Given the description of an element on the screen output the (x, y) to click on. 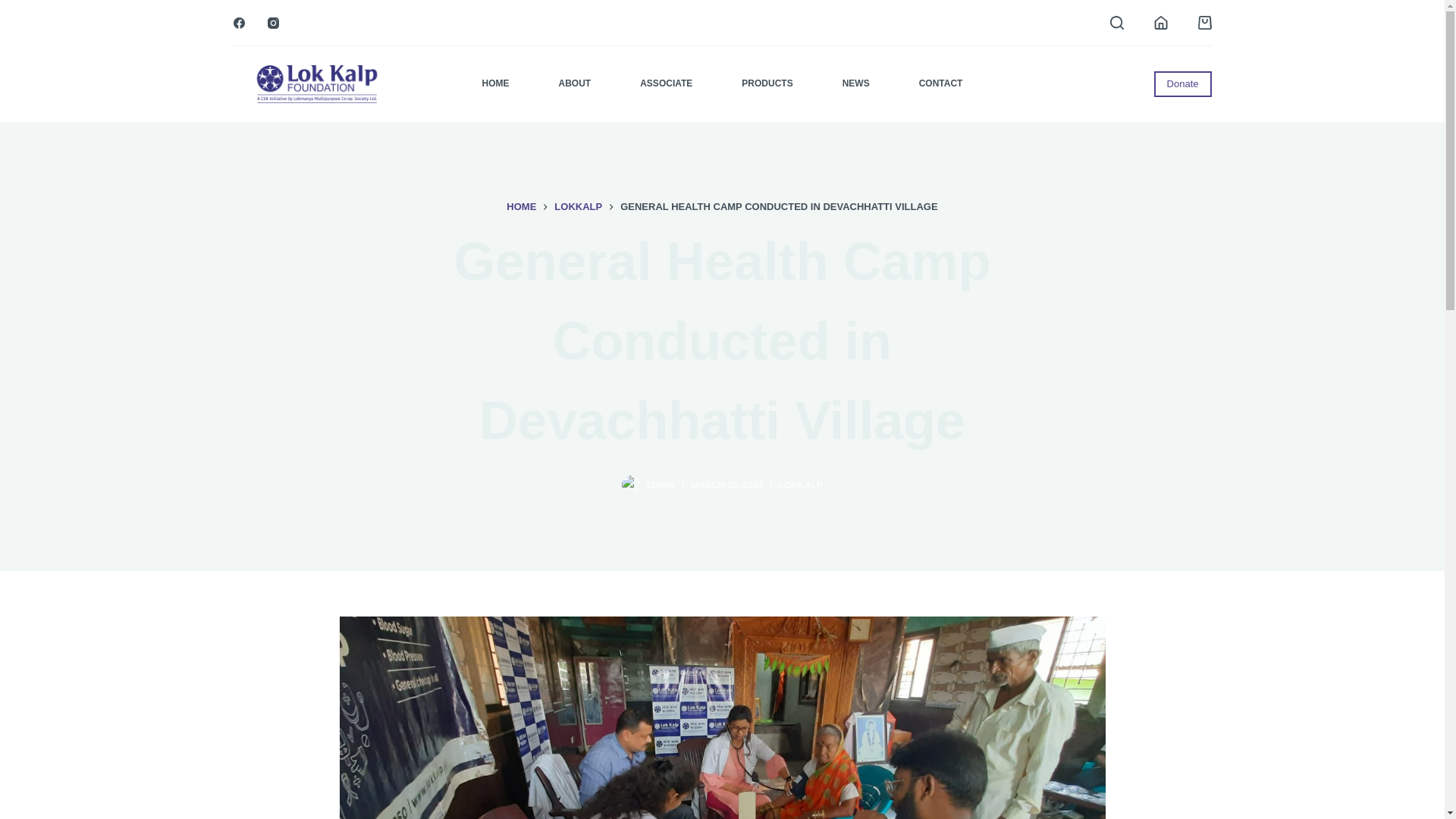
NEWS (854, 84)
Posts by admin (660, 484)
ADMIN (660, 484)
ABOUT (574, 84)
CONTACT (940, 84)
Skip to content (15, 7)
LOKKALP (578, 206)
PRODUCTS (766, 84)
HOME (495, 84)
Donate (1182, 84)
LOKKALP (800, 484)
Shopping cart (1204, 22)
HOME (520, 206)
ASSOCIATE (666, 84)
